Given the description of an element on the screen output the (x, y) to click on. 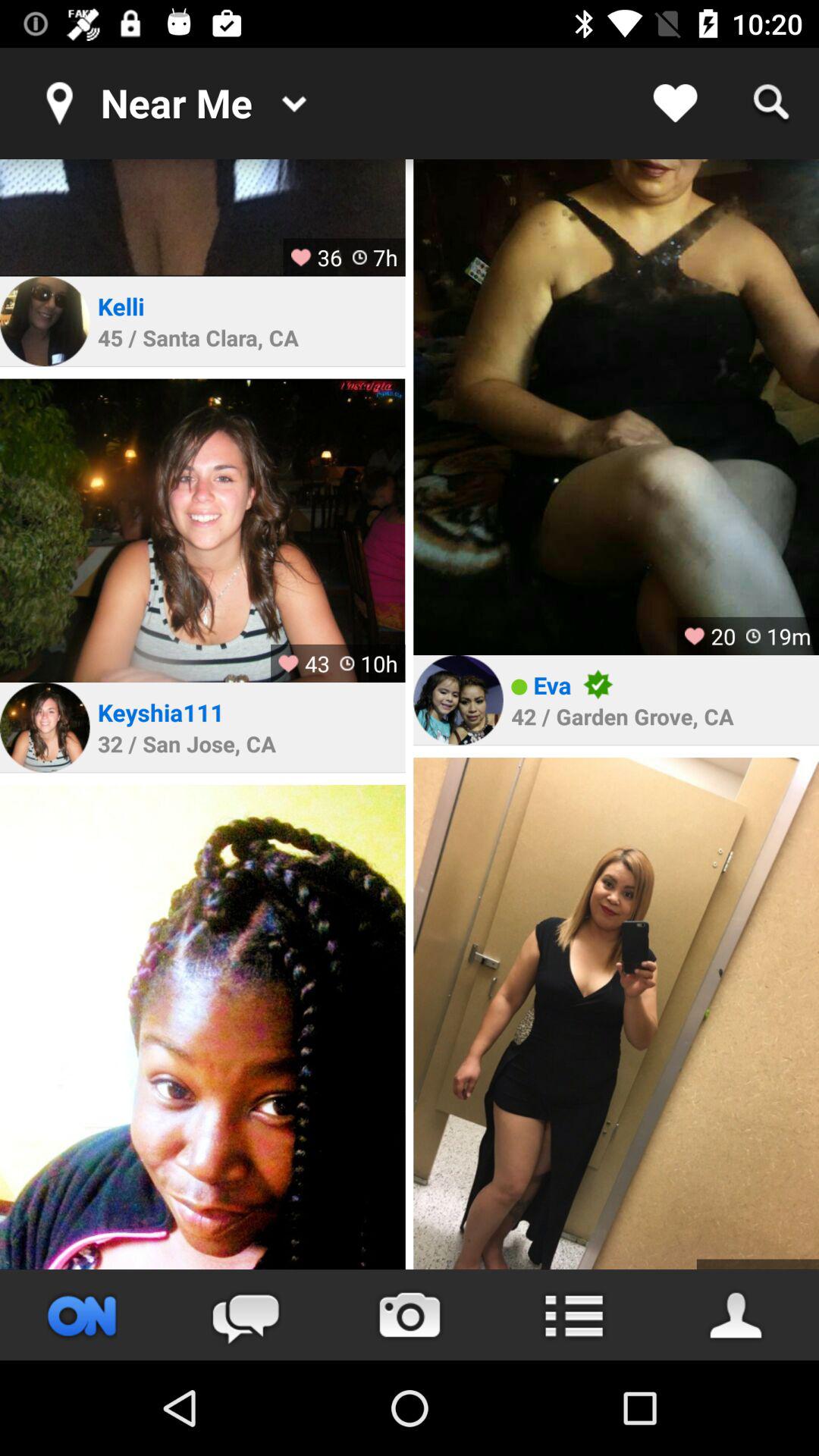
zoom into picture (616, 407)
